Given the description of an element on the screen output the (x, y) to click on. 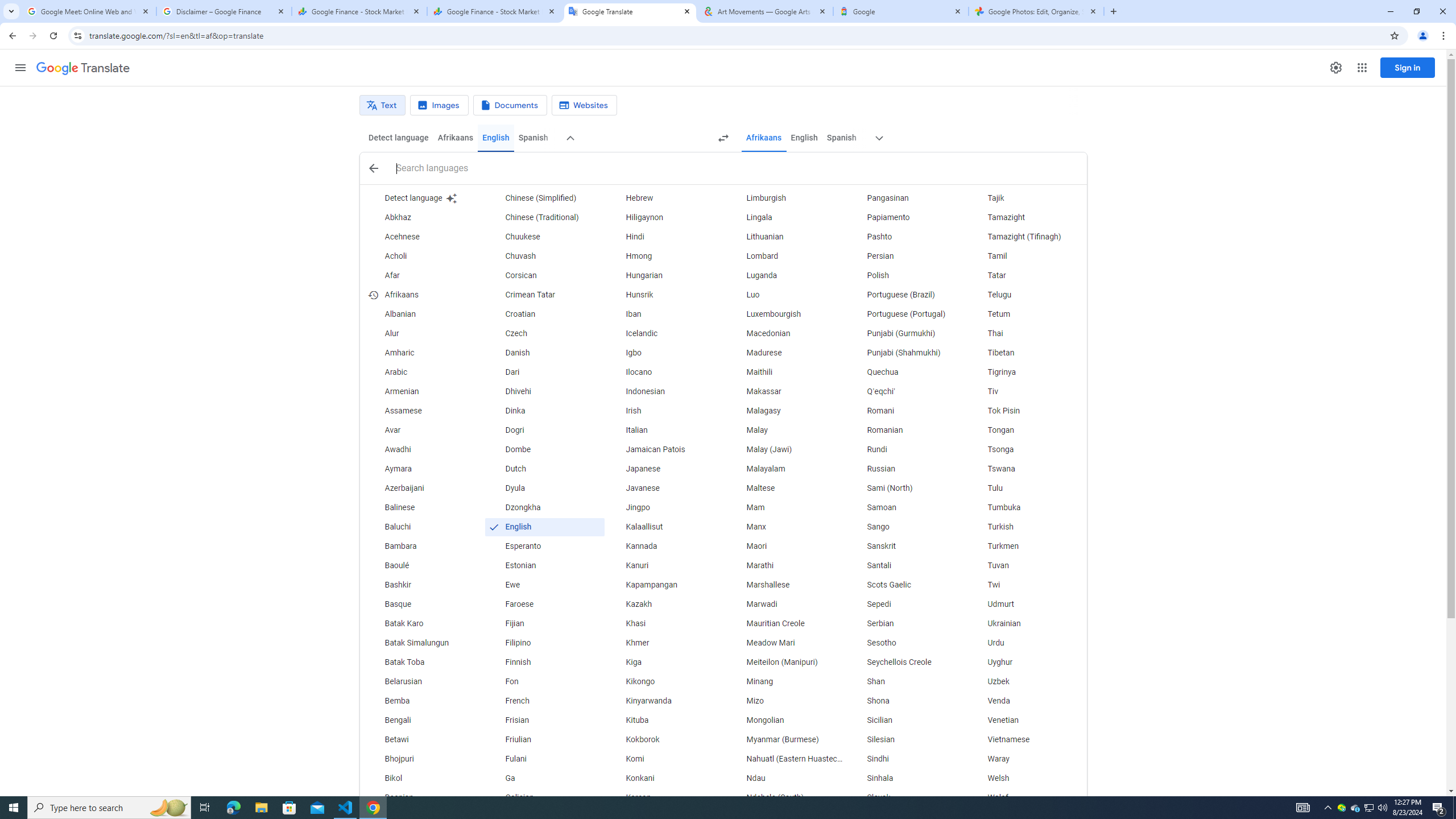
Sango (905, 527)
Luxembourgish (785, 314)
Kiga (665, 662)
Shan (905, 682)
Marwadi (785, 604)
Konkani (665, 778)
Hindi (665, 236)
Javanese (665, 488)
Tetum (1026, 314)
Portuguese (Brazil) (905, 294)
Tsonga (1026, 449)
Danish (544, 352)
Estonian (544, 565)
Lingala (785, 217)
Ilocano (665, 372)
